Given the description of an element on the screen output the (x, y) to click on. 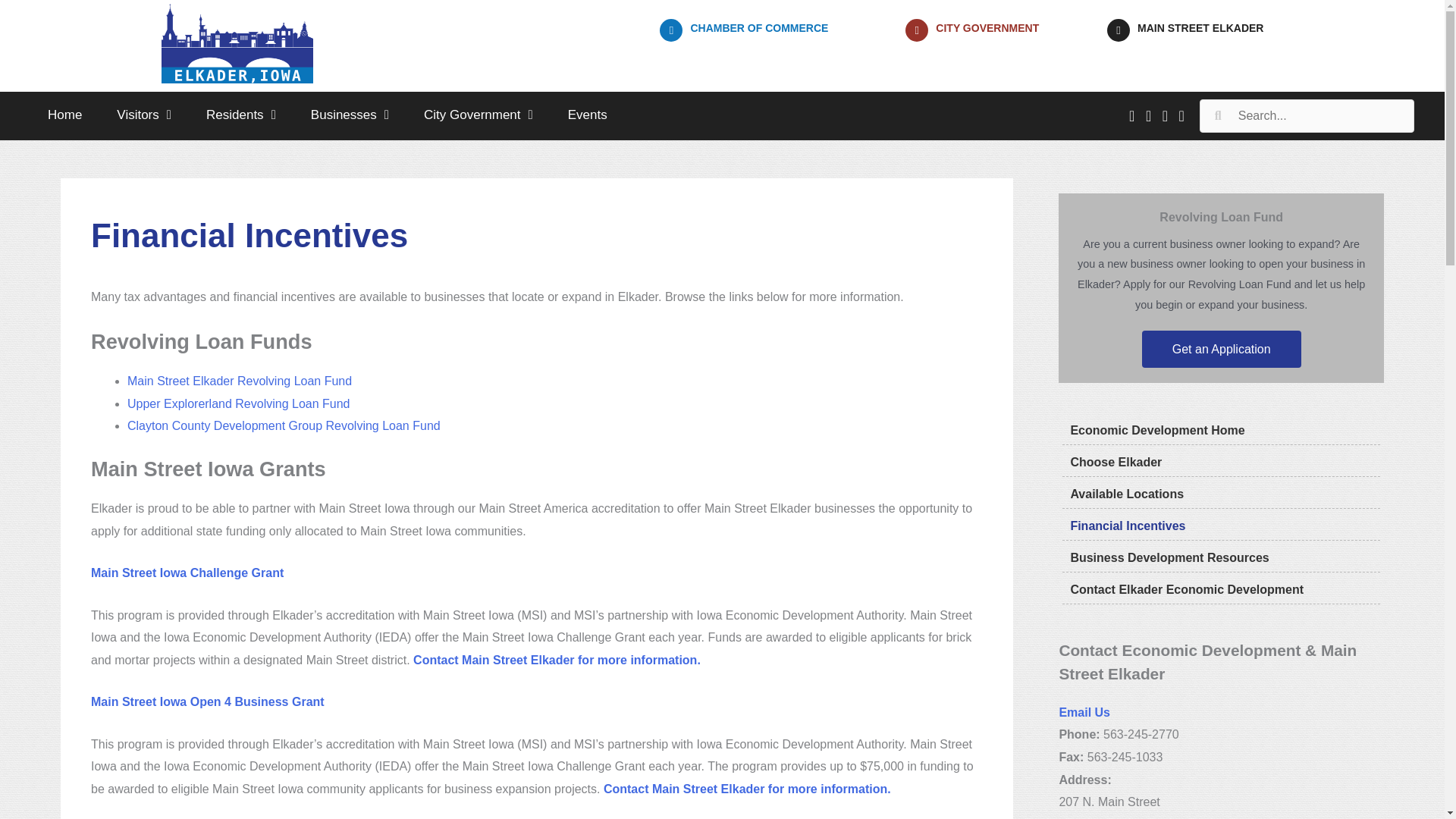
Visitors (143, 114)
Residents (240, 114)
City Government (478, 114)
Businesses (350, 114)
Home (64, 114)
